Given the description of an element on the screen output the (x, y) to click on. 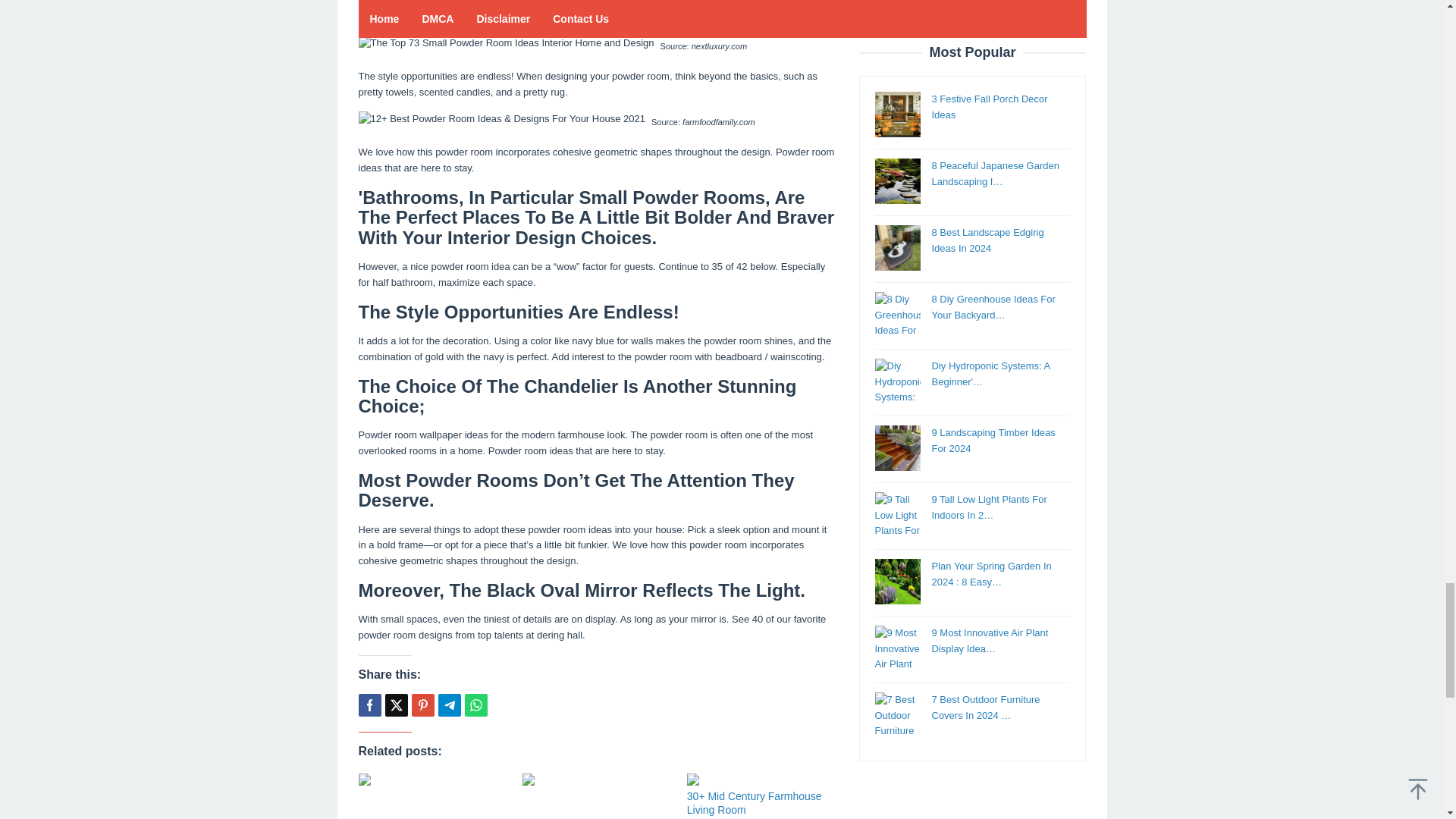
Tweet this (396, 704)
Whatsapp (475, 704)
Share this (369, 704)
Telegram Share (449, 704)
Pin this (421, 704)
